Given the description of an element on the screen output the (x, y) to click on. 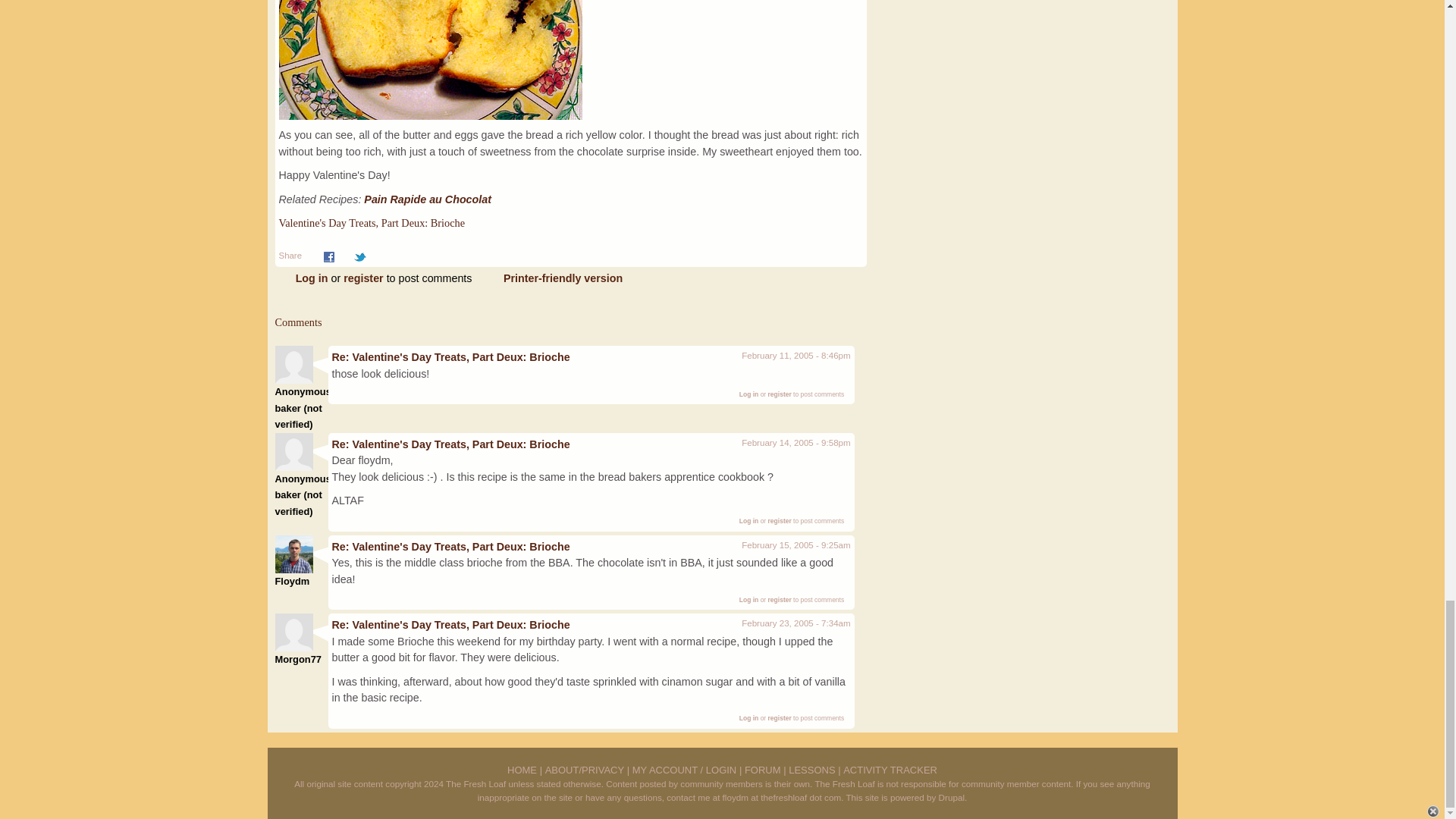
Log in (748, 599)
register (362, 277)
Log in (748, 717)
register (780, 520)
Anonymous baker's picture (294, 451)
register (780, 717)
Printer-friendly version (563, 277)
Re: Valentine's Day Treats, Part Deux: Brioche (450, 357)
Pain Rapide au Chocolat (428, 199)
Share this on Twitter (359, 254)
Log in (748, 394)
Floydm's picture (294, 554)
Share on Facebook (328, 254)
Re: Valentine's Day Treats, Part Deux: Brioche (450, 546)
Re: Valentine's Day Treats, Part Deux: Brioche (450, 624)
